Given the description of an element on the screen output the (x, y) to click on. 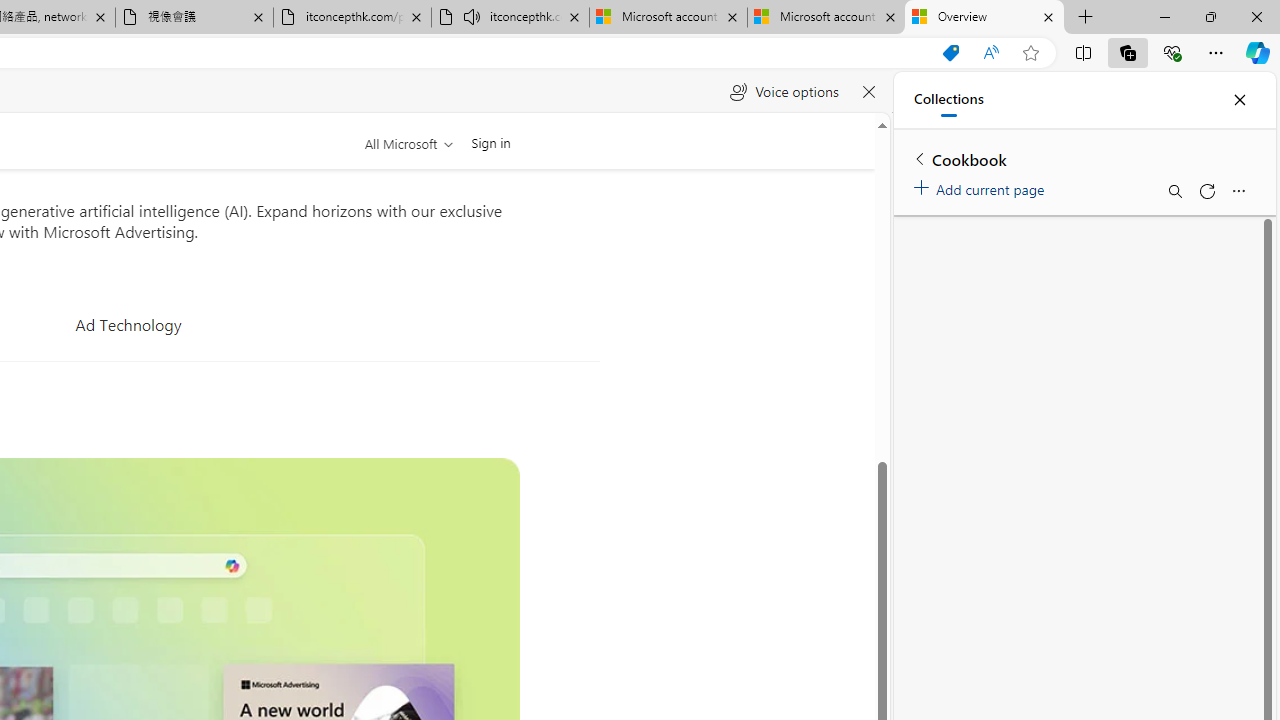
Back to list of collections (920, 158)
itconcepthk.com/projector_solutions.mp4 (352, 17)
Ad Technology (128, 324)
More options menu (1238, 190)
Overview (984, 17)
Close read aloud (868, 92)
